Given the description of an element on the screen output the (x, y) to click on. 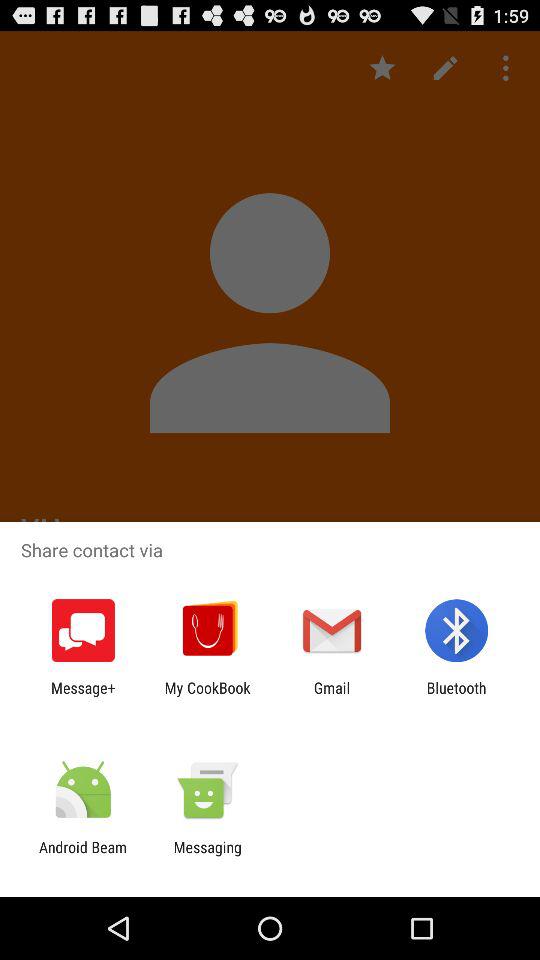
click the my cookbook icon (207, 696)
